Given the description of an element on the screen output the (x, y) to click on. 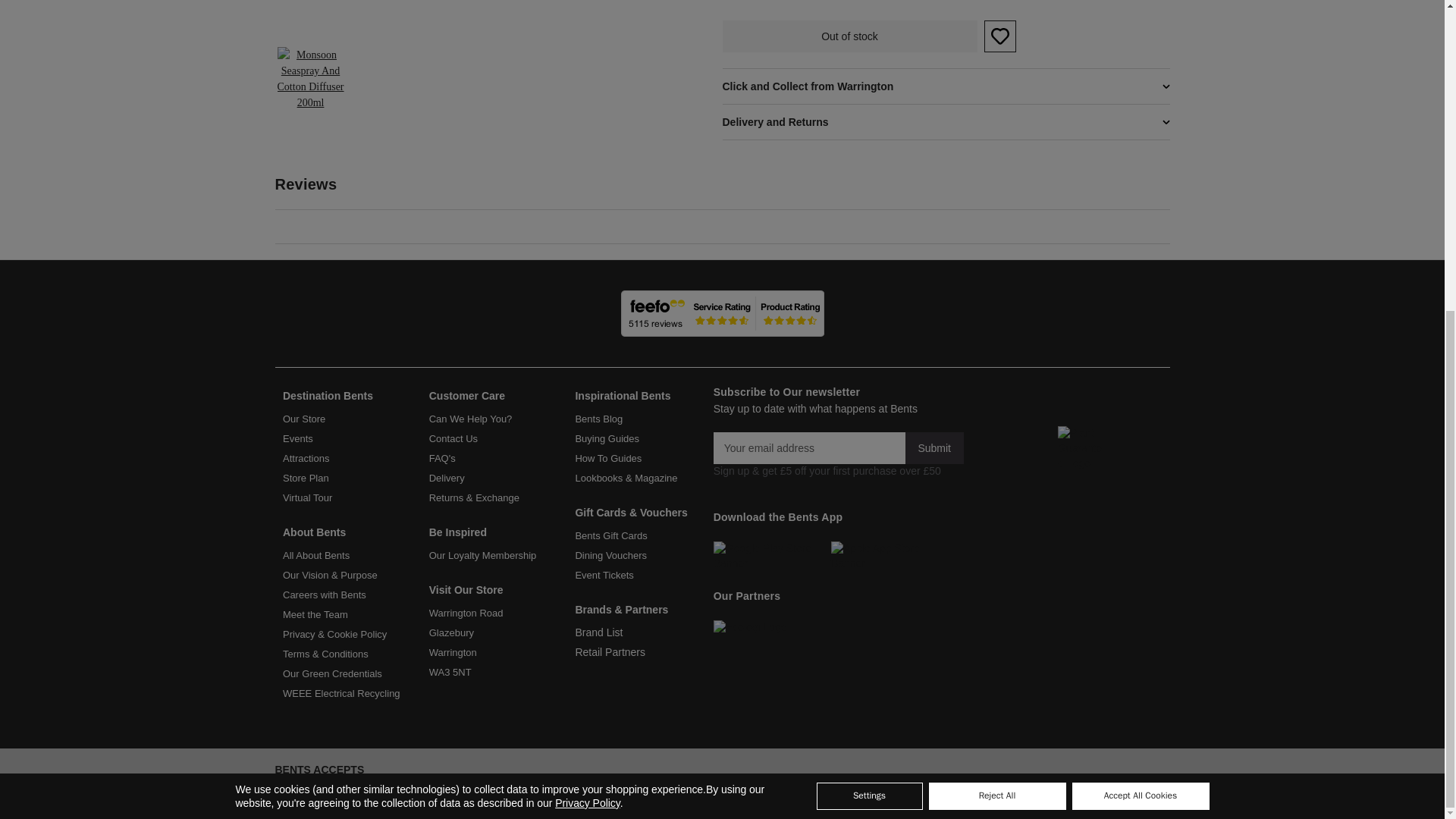
Download our app on the Apple App Store (879, 555)
Download our app on the Google Play Store (772, 555)
GCA Plant Guarantee (1080, 448)
Ecologi x Bents (770, 626)
See what our customers say about us (722, 313)
Monsoon Seaspray And Cotton Diffuser 200ml (456, 16)
Garden Centre Association (1022, 448)
Submit (934, 448)
